Given the description of an element on the screen output the (x, y) to click on. 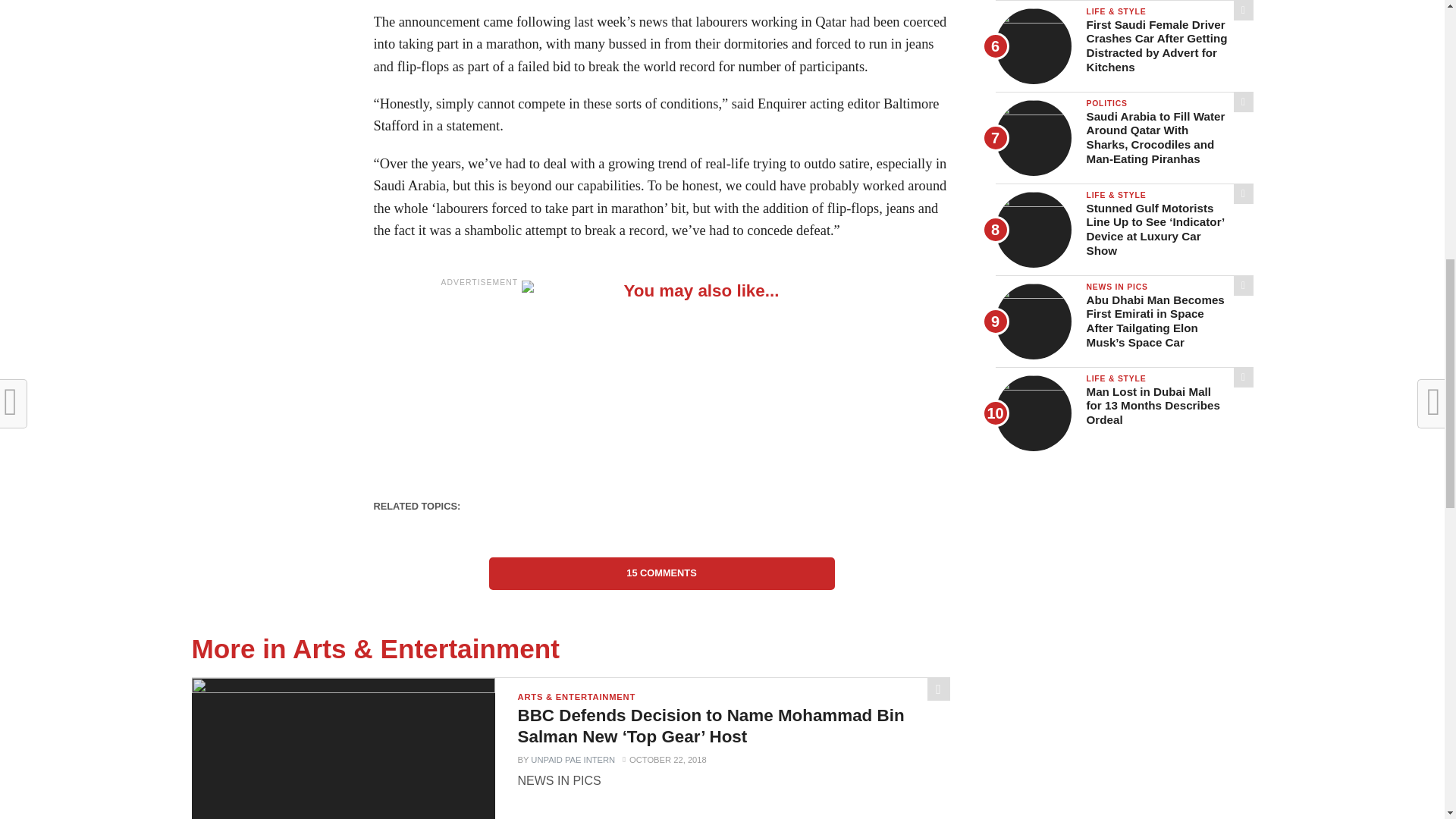
Posts by Unpaid PAE Intern (572, 759)
